Given the description of an element on the screen output the (x, y) to click on. 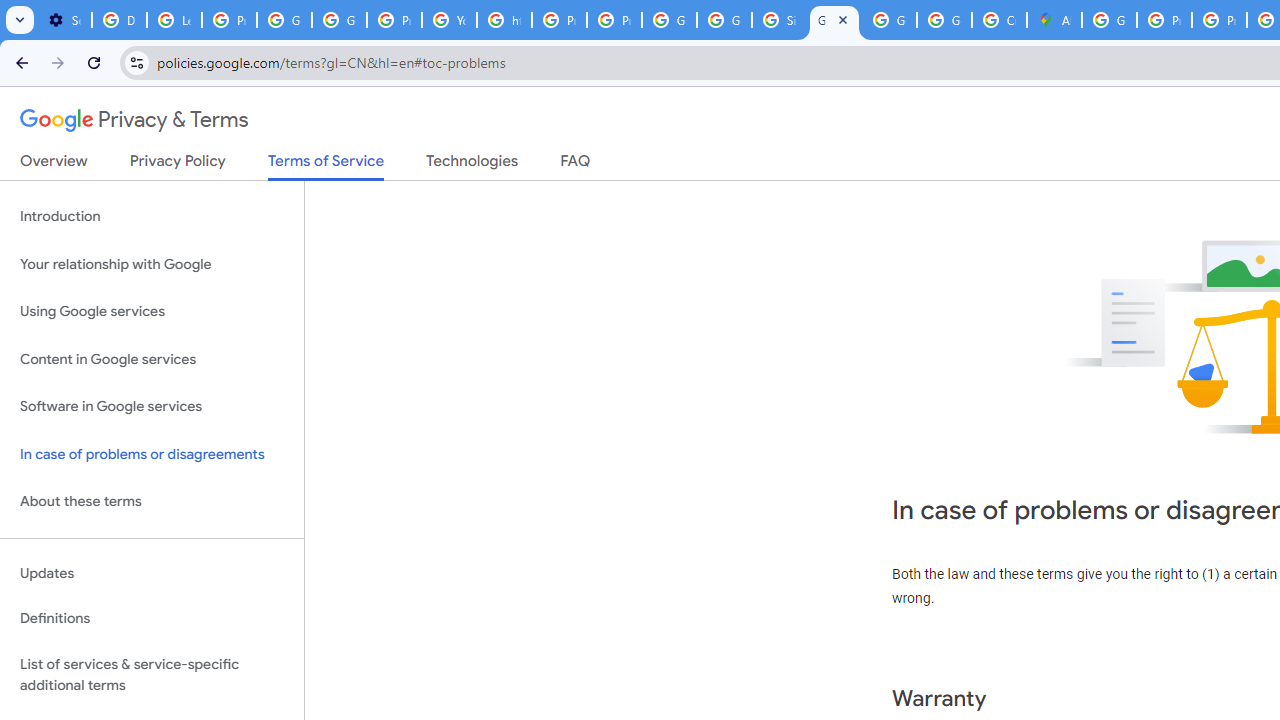
About these terms (152, 502)
Privacy Help Center - Policies Help (1218, 20)
Google Account Help (284, 20)
Privacy Help Center - Policies Help (559, 20)
Privacy Help Center - Policies Help (1163, 20)
In case of problems or disagreements (152, 453)
